Given the description of an element on the screen output the (x, y) to click on. 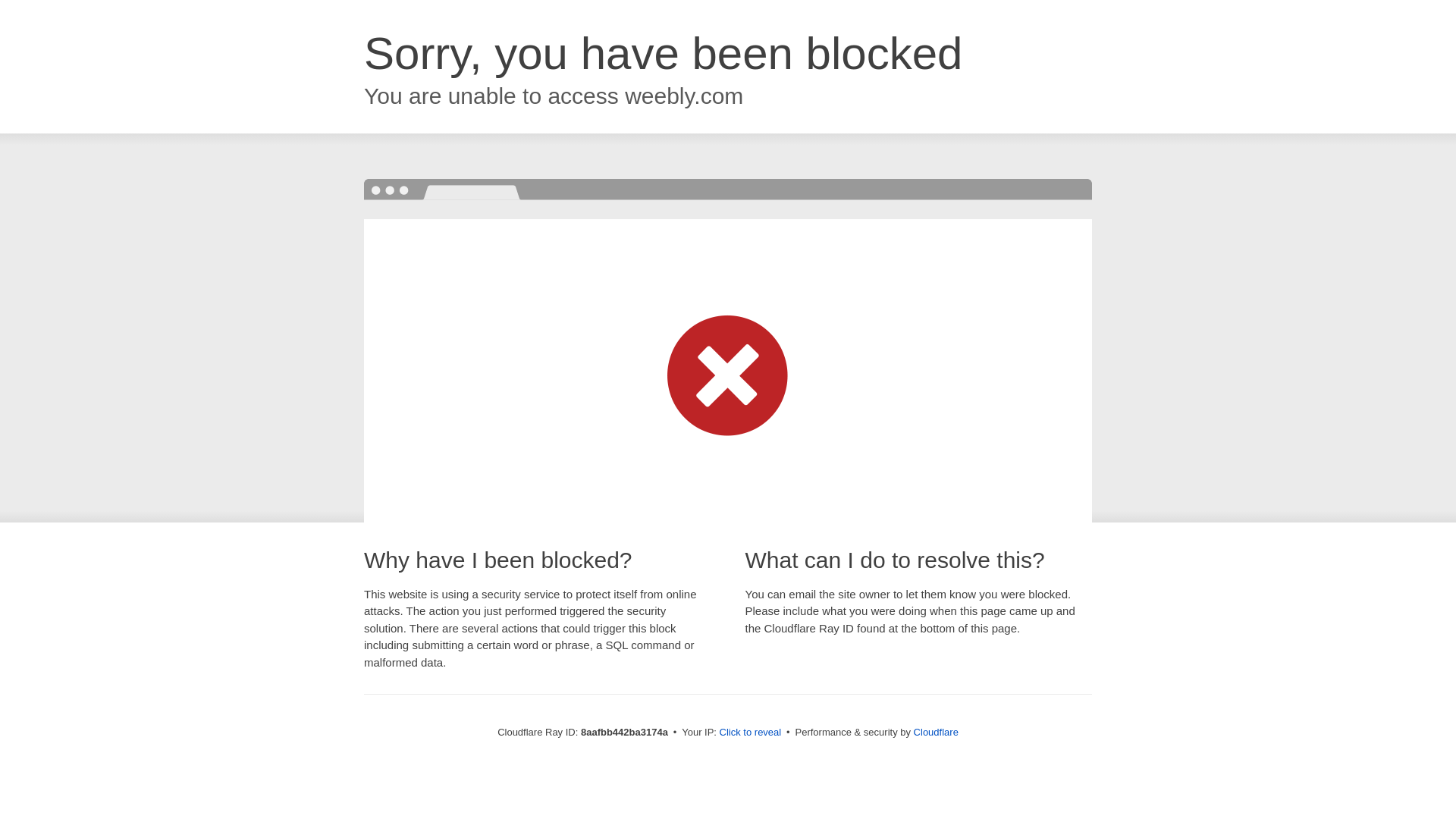
Cloudflare (936, 731)
Click to reveal (750, 732)
